Given the description of an element on the screen output the (x, y) to click on. 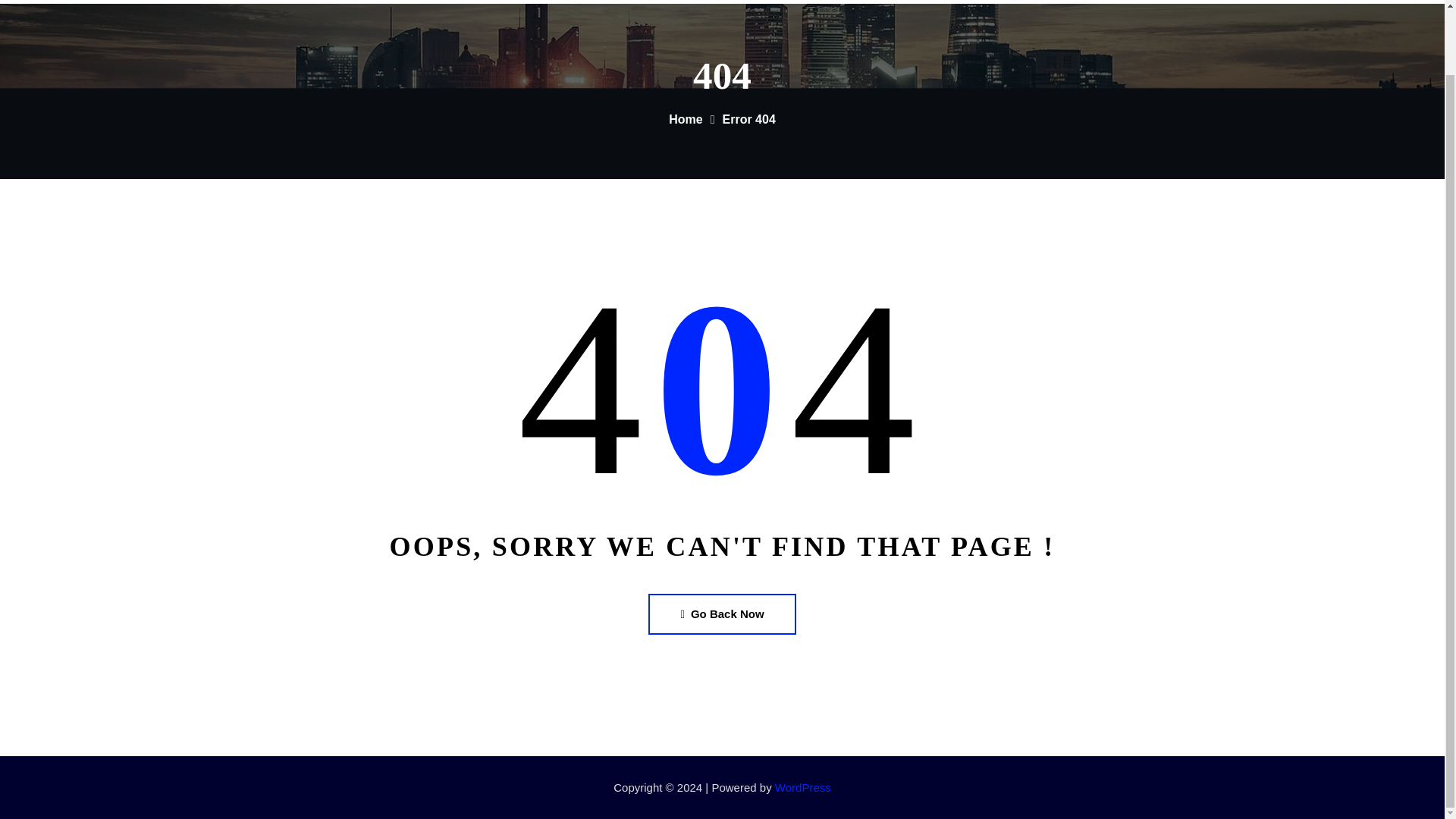
Home (1250, 2)
Error 404 (749, 119)
Home (684, 119)
WordPress (802, 787)
Go Back Now (720, 613)
